Given the description of an element on the screen output the (x, y) to click on. 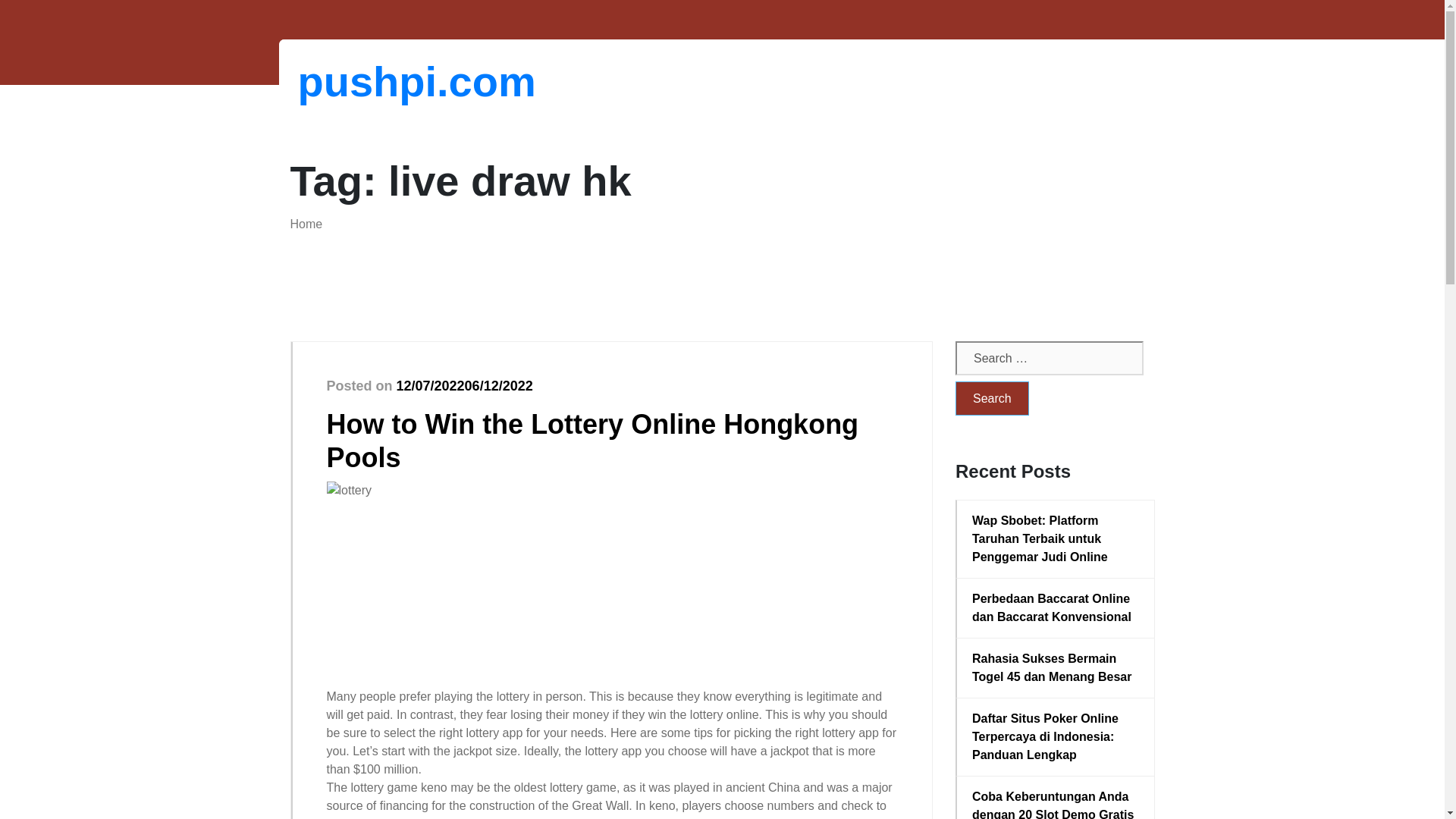
pushpi.com (376, 81)
Search (992, 398)
Search (992, 398)
Rahasia Sukses Bermain Togel 45 dan Menang Besar (1055, 668)
Coba Keberuntungan Anda dengan 20 Slot Demo Gratis (1055, 803)
Perbedaan Baccarat Online dan Baccarat Konvensional (1055, 607)
Home (305, 223)
How to Win the Lottery Online Hongkong Pools (592, 440)
Search (992, 398)
